Given the description of an element on the screen output the (x, y) to click on. 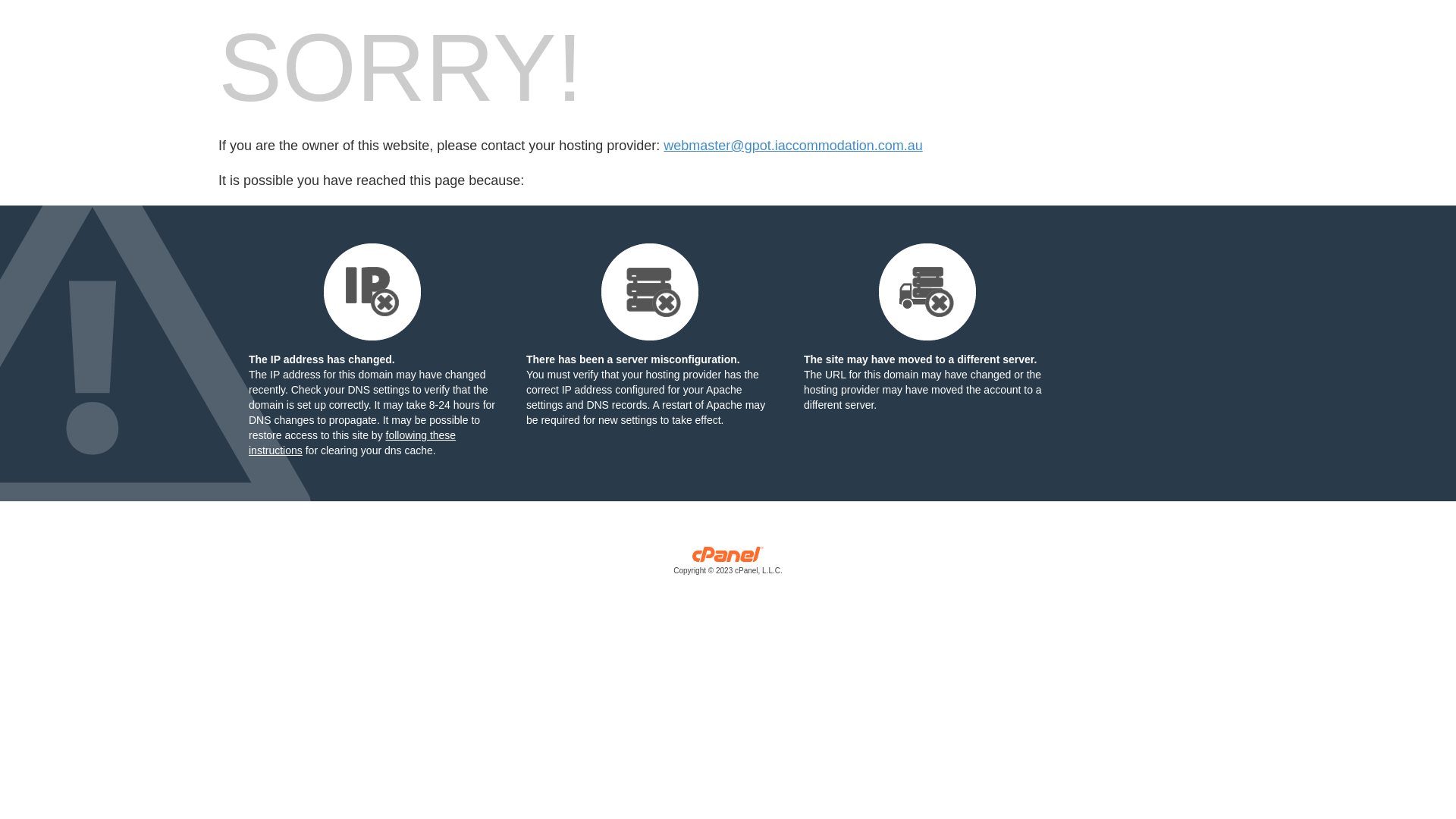
following these instructions Element type: text (351, 442)
webmaster@gpot.iaccommodation.com.au Element type: text (792, 145)
